Given the description of an element on the screen output the (x, y) to click on. 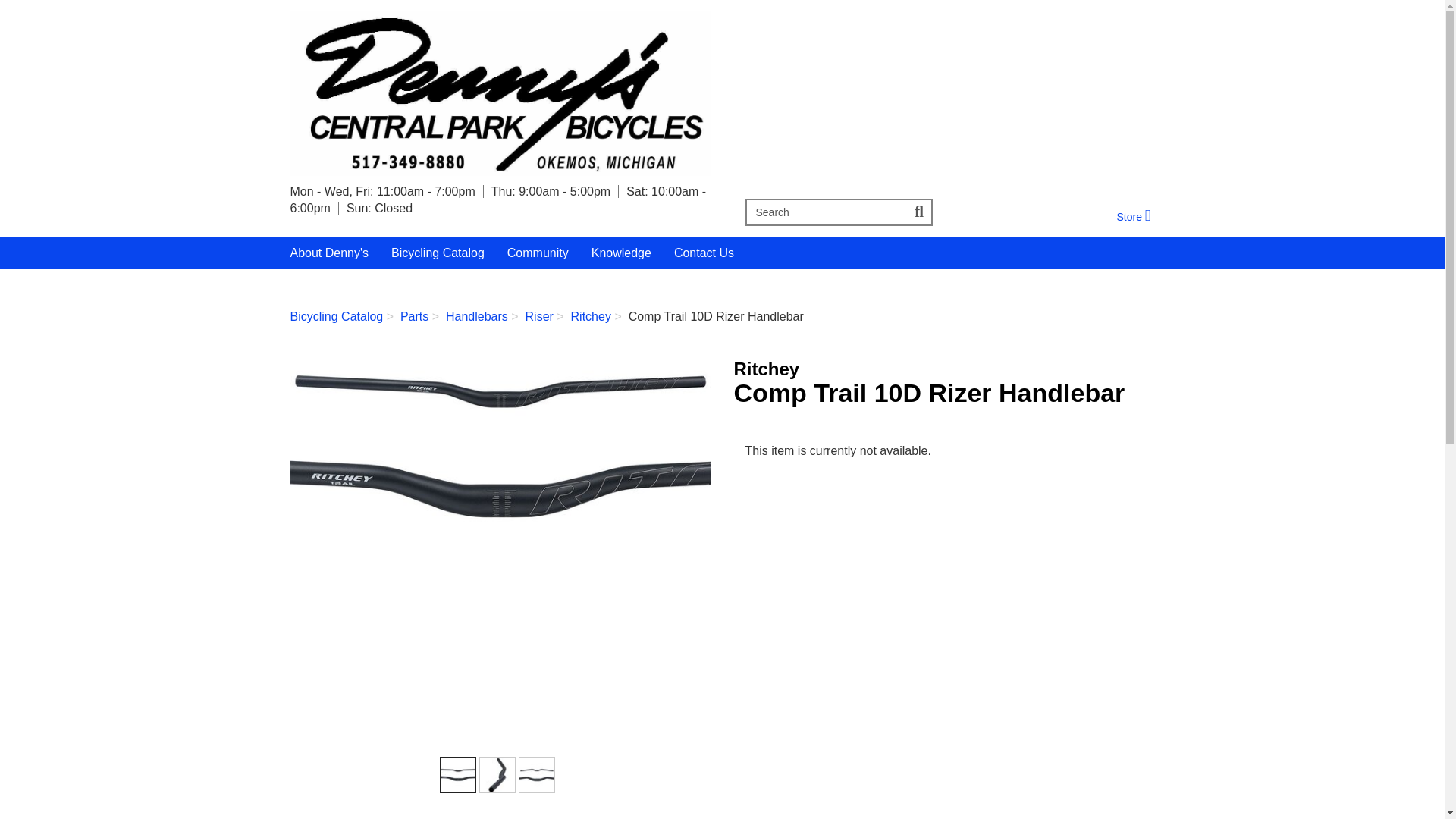
Ritchey Comp Trail 10D Rizer Handlebar (499, 446)
Search (920, 212)
Store (1133, 216)
Bicycling Catalog (438, 253)
Search (1133, 216)
Denny's Central Park Bicycles Home Page (825, 212)
About Denny's (499, 93)
